Given the description of an element on the screen output the (x, y) to click on. 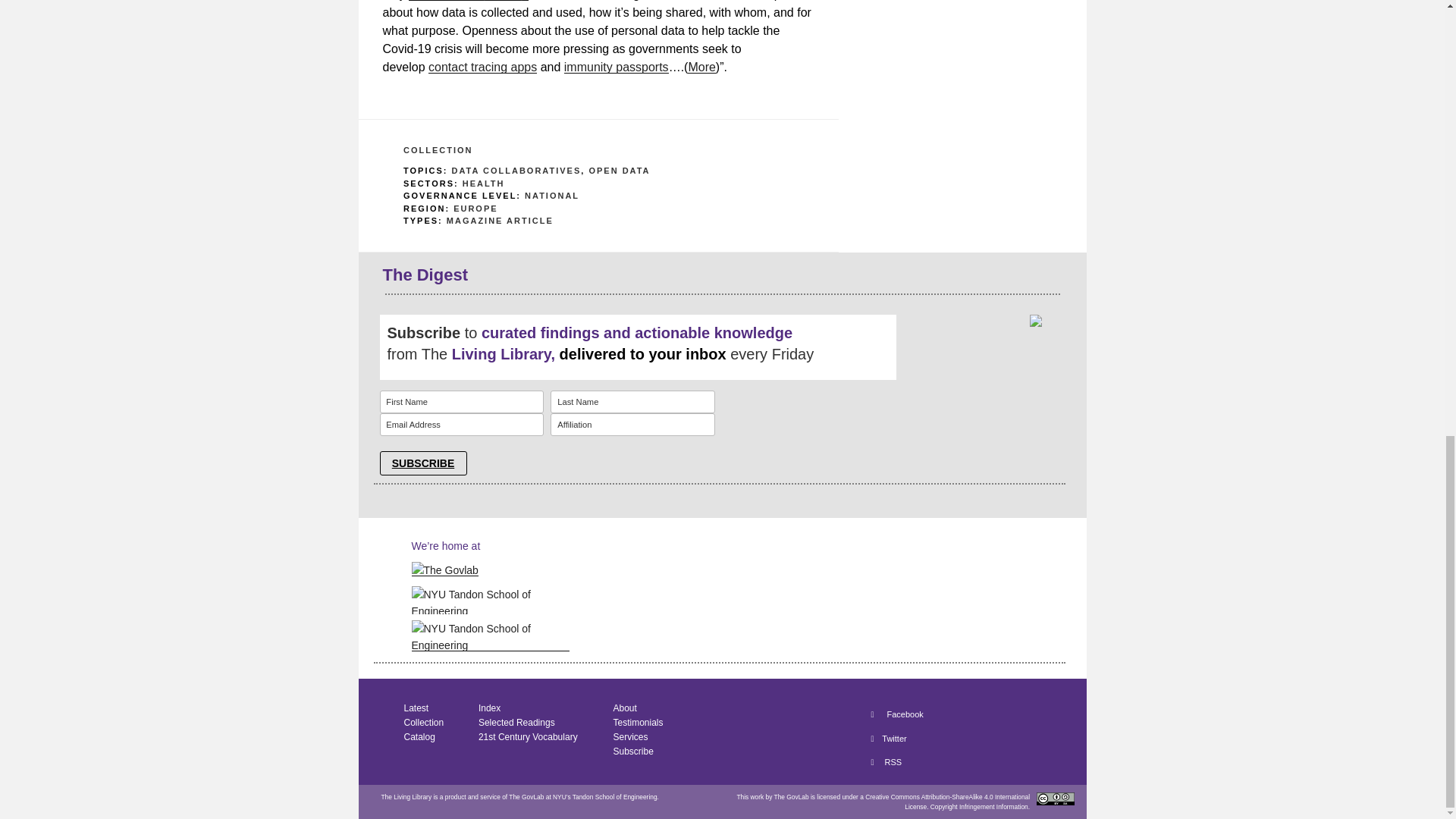
immunity passports (616, 66)
NATIONAL (551, 194)
DATA COLLABORATIVES (515, 170)
SUBSCRIBE (421, 463)
More (700, 66)
OPEN DATA (618, 170)
COLLECTION (438, 149)
HEALTH (484, 183)
contact tracing apps (482, 66)
